Given the description of an element on the screen output the (x, y) to click on. 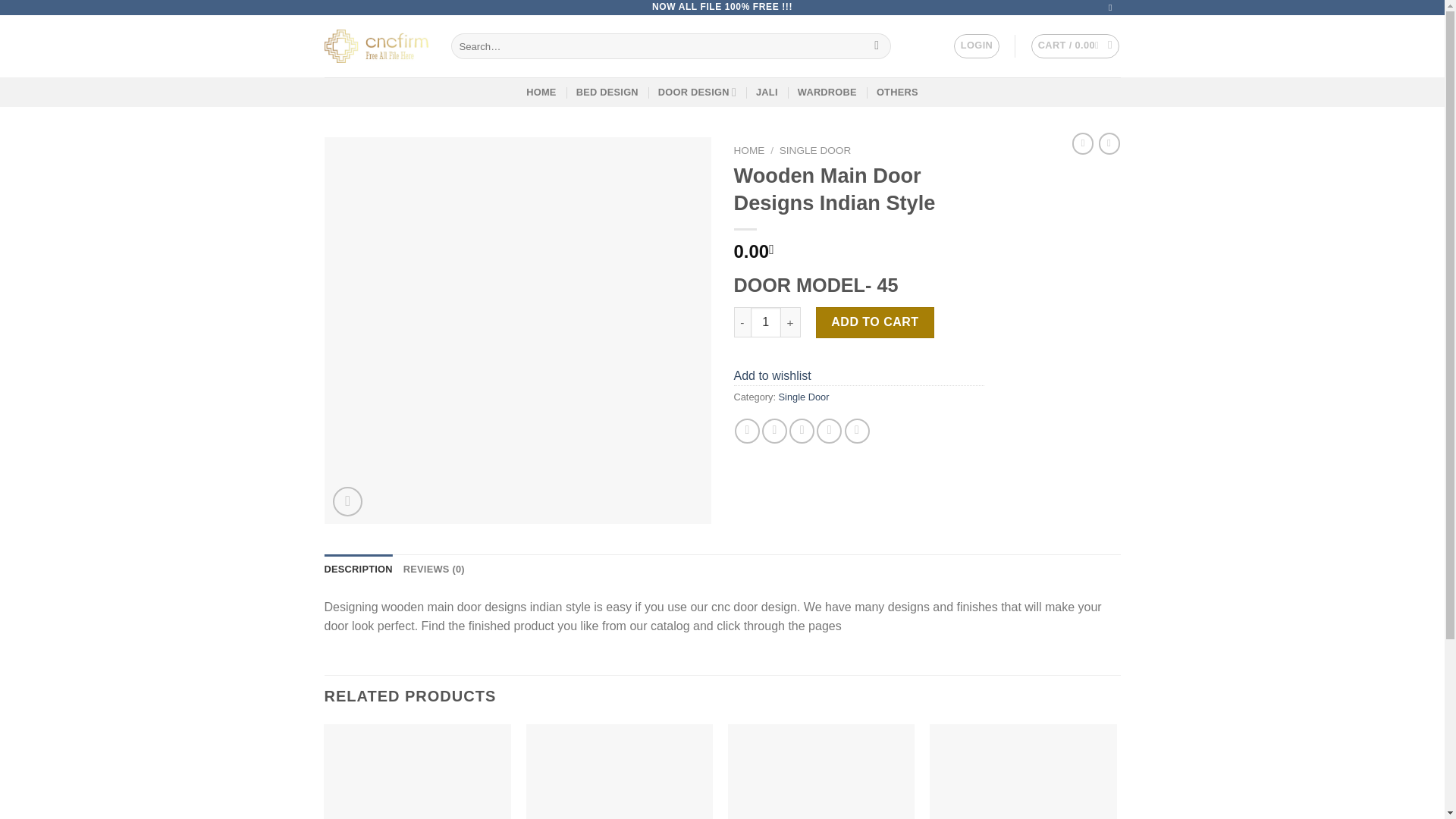
Qty (765, 322)
Cart (1074, 46)
WARDROBE (827, 91)
ADD TO CART (874, 322)
cnc firm - Free All File (376, 46)
DESCRIPTION (358, 569)
Zoom (347, 501)
DOOR DESIGN (697, 91)
LOGIN (975, 46)
1 (765, 322)
